Given the description of an element on the screen output the (x, y) to click on. 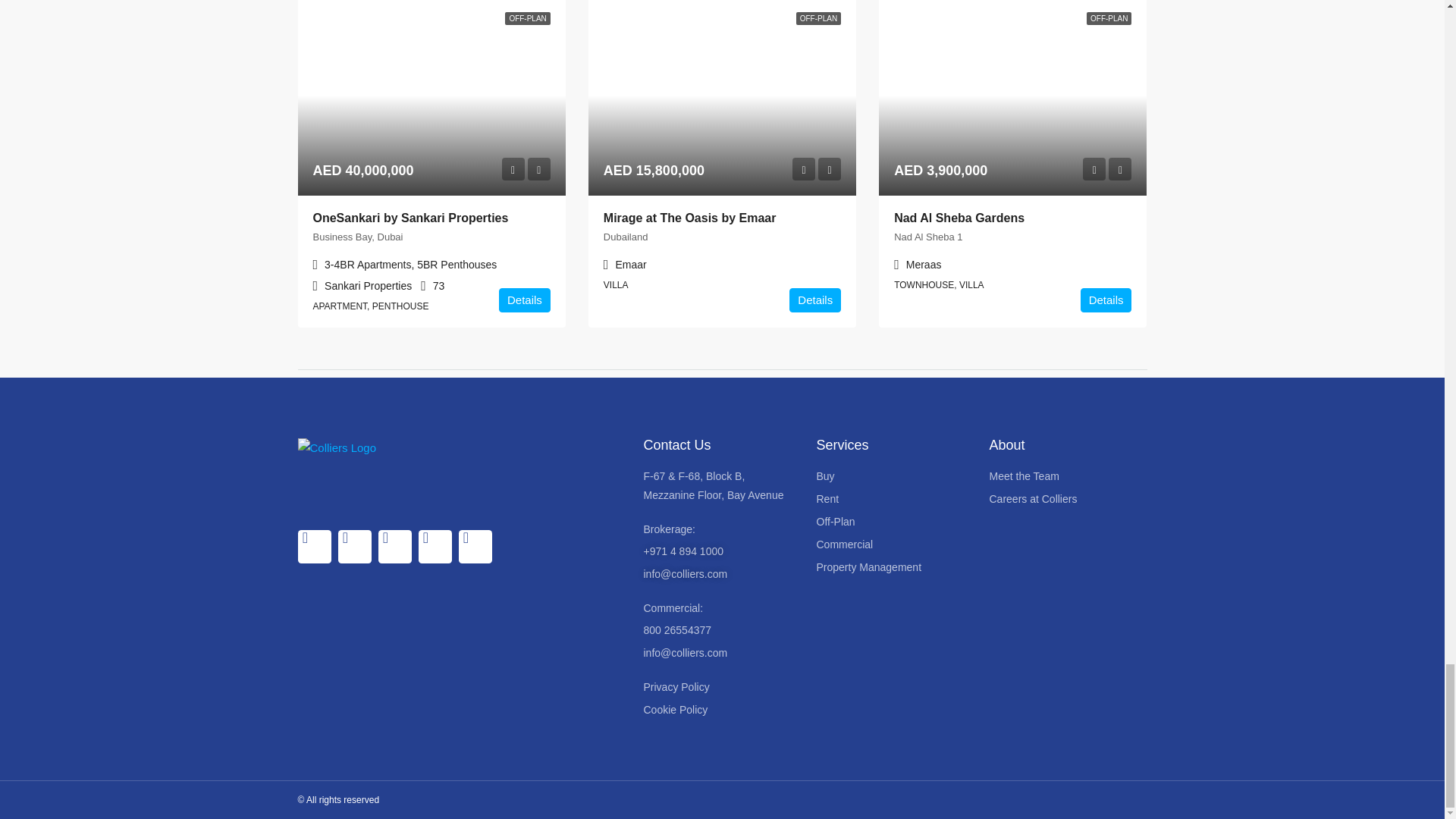
Favourite (538, 169)
Preview (803, 169)
Favourite (1119, 169)
Preview (513, 169)
Favourite (829, 169)
Preview (1094, 169)
